Given the description of an element on the screen output the (x, y) to click on. 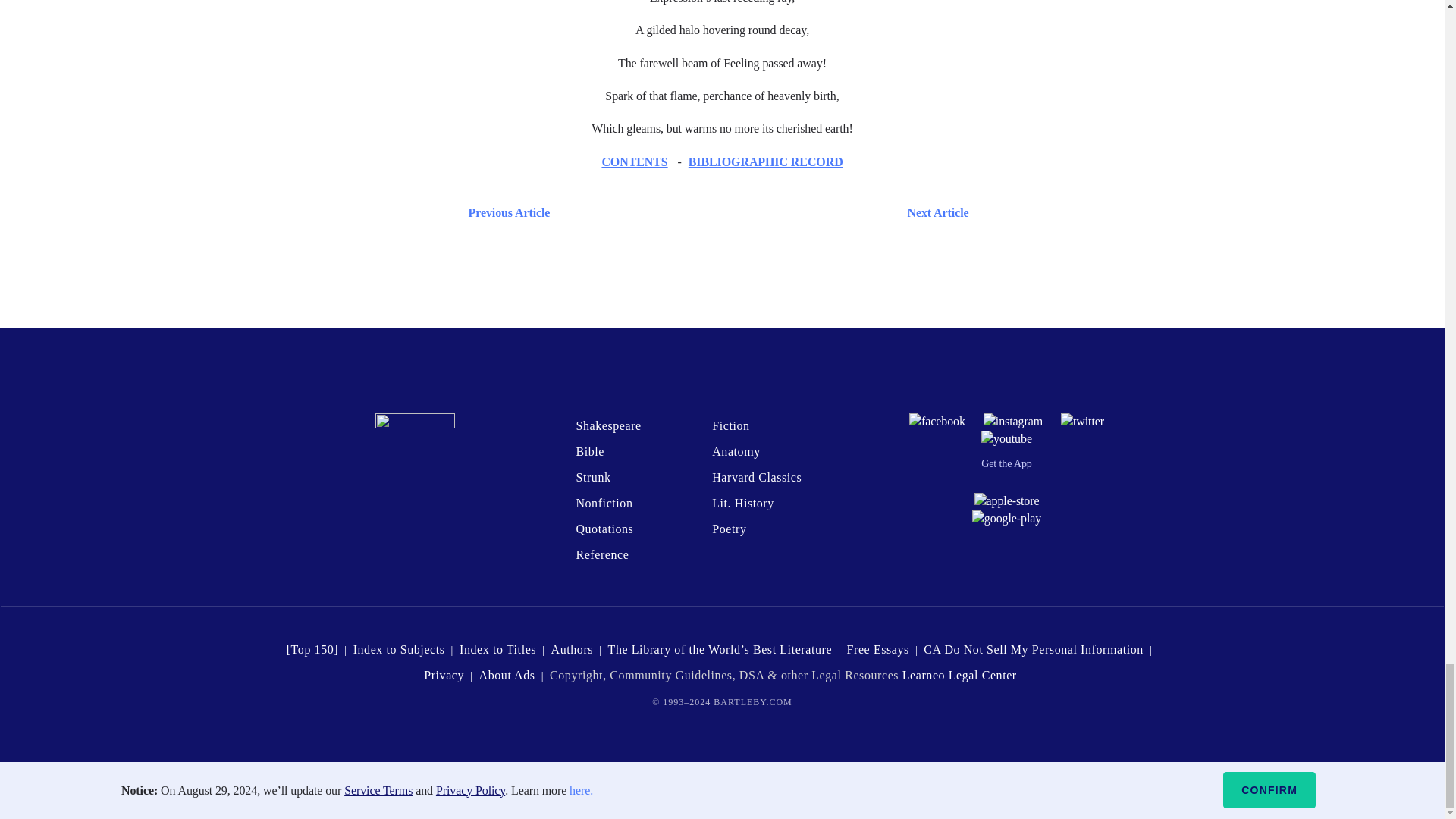
Fiction (730, 425)
Lit. History (742, 502)
Nonfiction (603, 502)
Strunk (592, 477)
Poetry (728, 528)
CONTENTS (633, 161)
Anatomy (735, 451)
Bible (589, 451)
Reference (601, 554)
Quotations (604, 528)
Harvard Classics (756, 477)
Next Article (766, 212)
Previous Article (505, 212)
BIBLIOGRAPHIC RECORD (765, 161)
Shakespeare (607, 425)
